Given the description of an element on the screen output the (x, y) to click on. 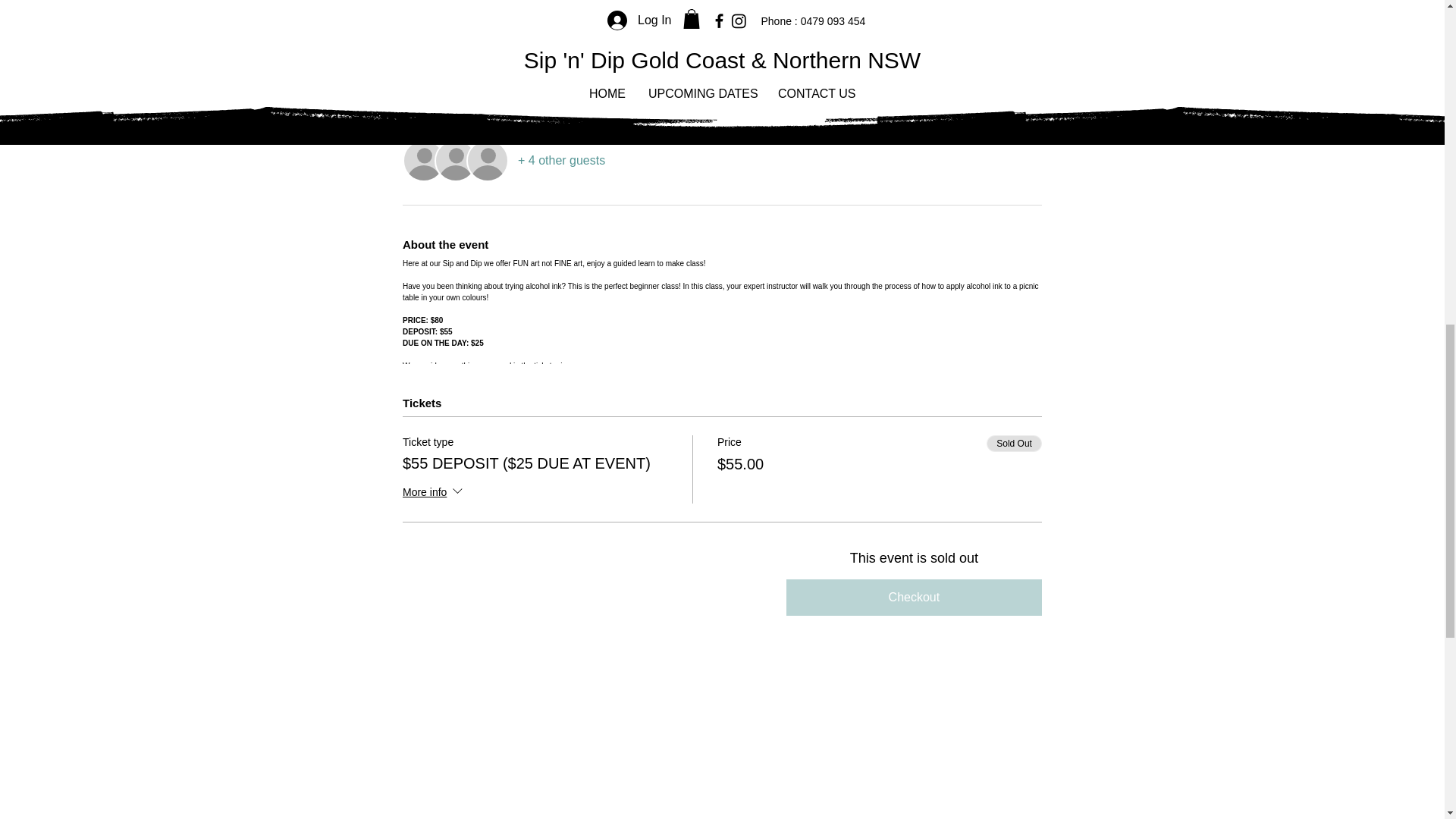
Checkout (914, 597)
More info (434, 493)
